Given the description of an element on the screen output the (x, y) to click on. 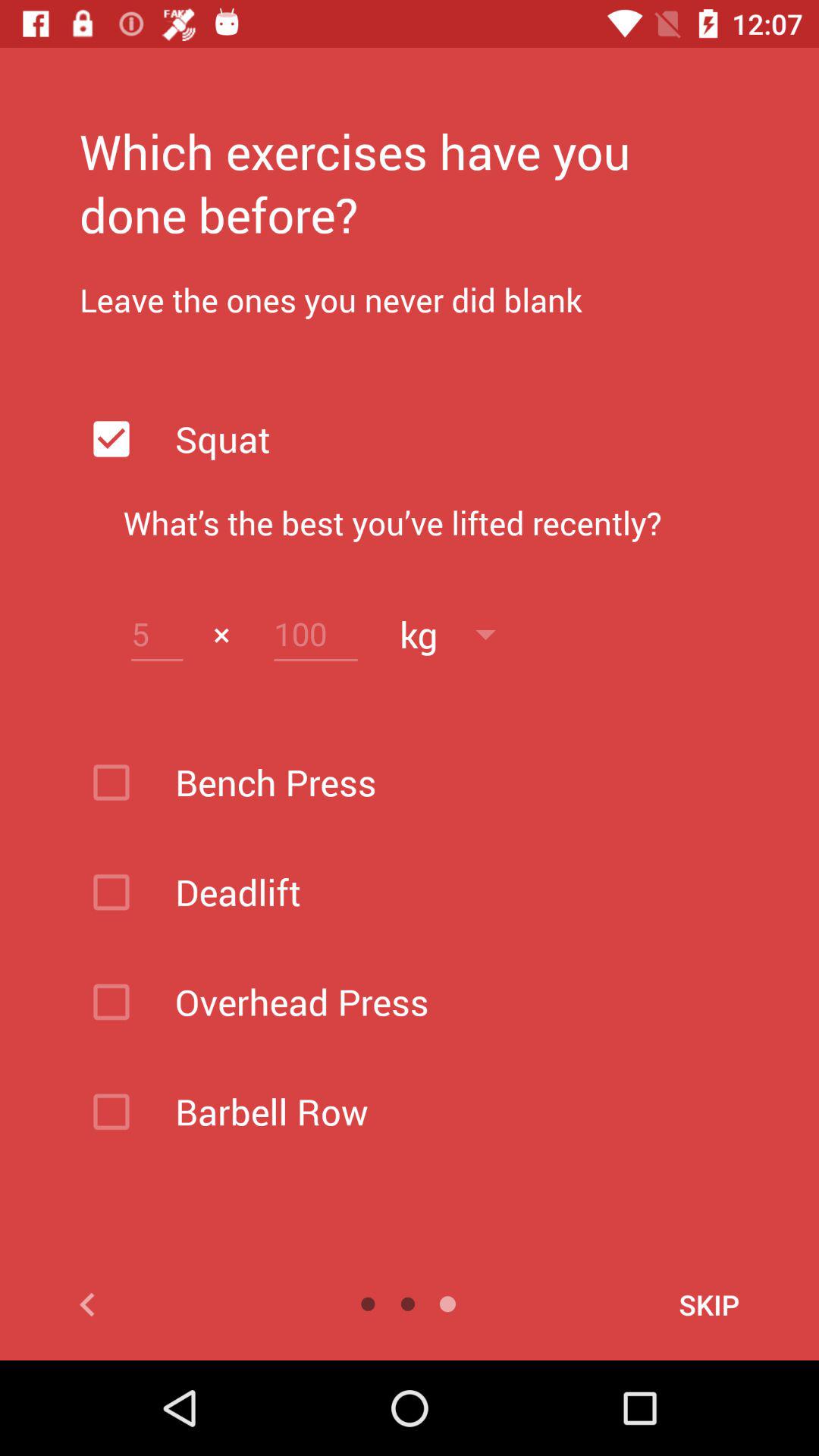
opens a text box for changing a value (157, 634)
